Given the description of an element on the screen output the (x, y) to click on. 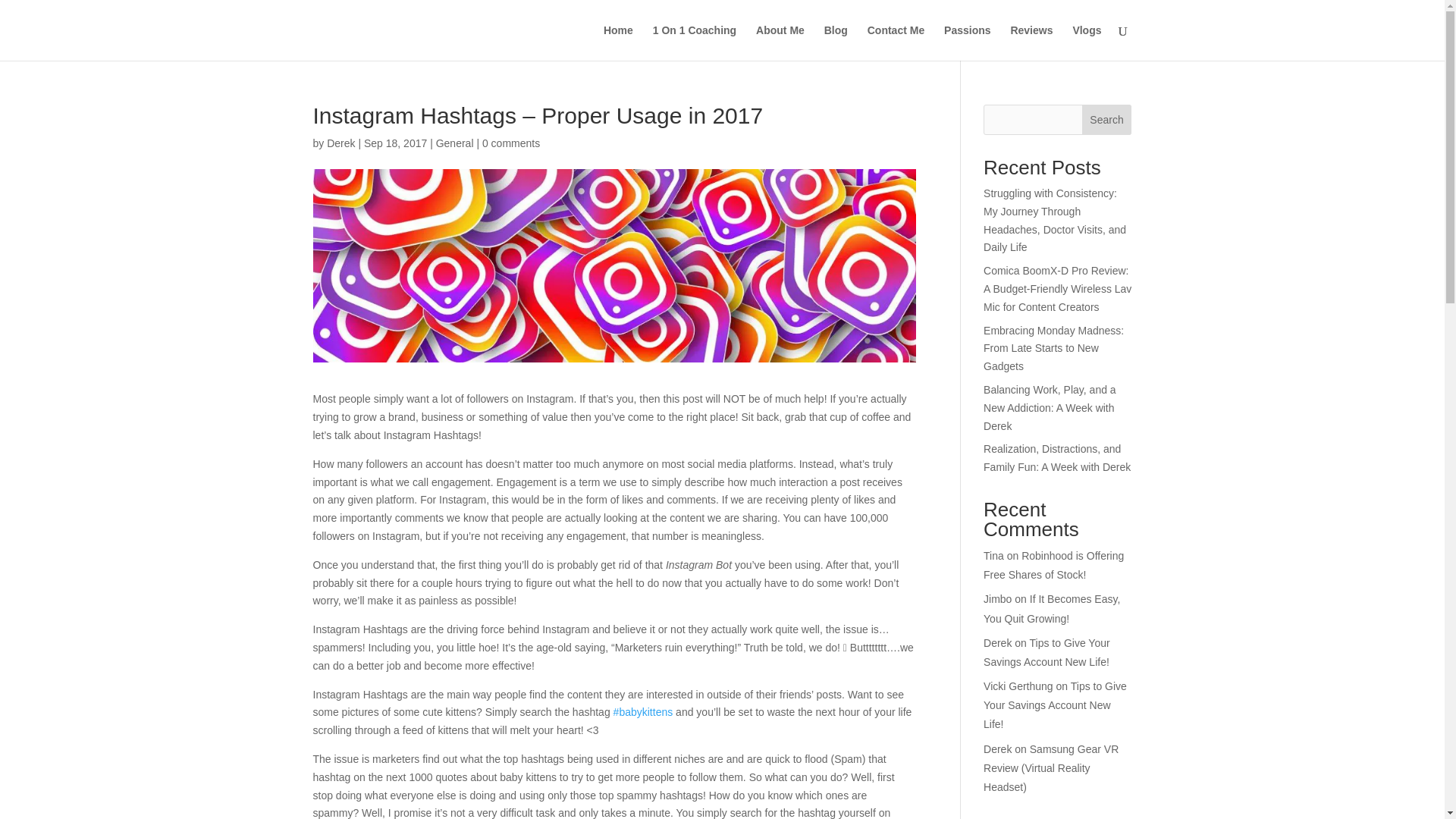
1 On 1 Coaching (694, 42)
Tips to Give Your Savings Account New Life! (1055, 705)
Derek (997, 748)
General (454, 143)
If It Becomes Easy, You Quit Growing! (1051, 608)
0 comments (510, 143)
Embracing Monday Madness: From Late Starts to New Gadgets (1054, 348)
Derek (340, 143)
Tips to Give Your Savings Account New Life! (1046, 652)
Robinhood is Offering Free Shares of Stock! (1054, 564)
Derek (997, 643)
Realization, Distractions, and Family Fun: A Week with Derek (1057, 458)
Passions (966, 42)
